Given the description of an element on the screen output the (x, y) to click on. 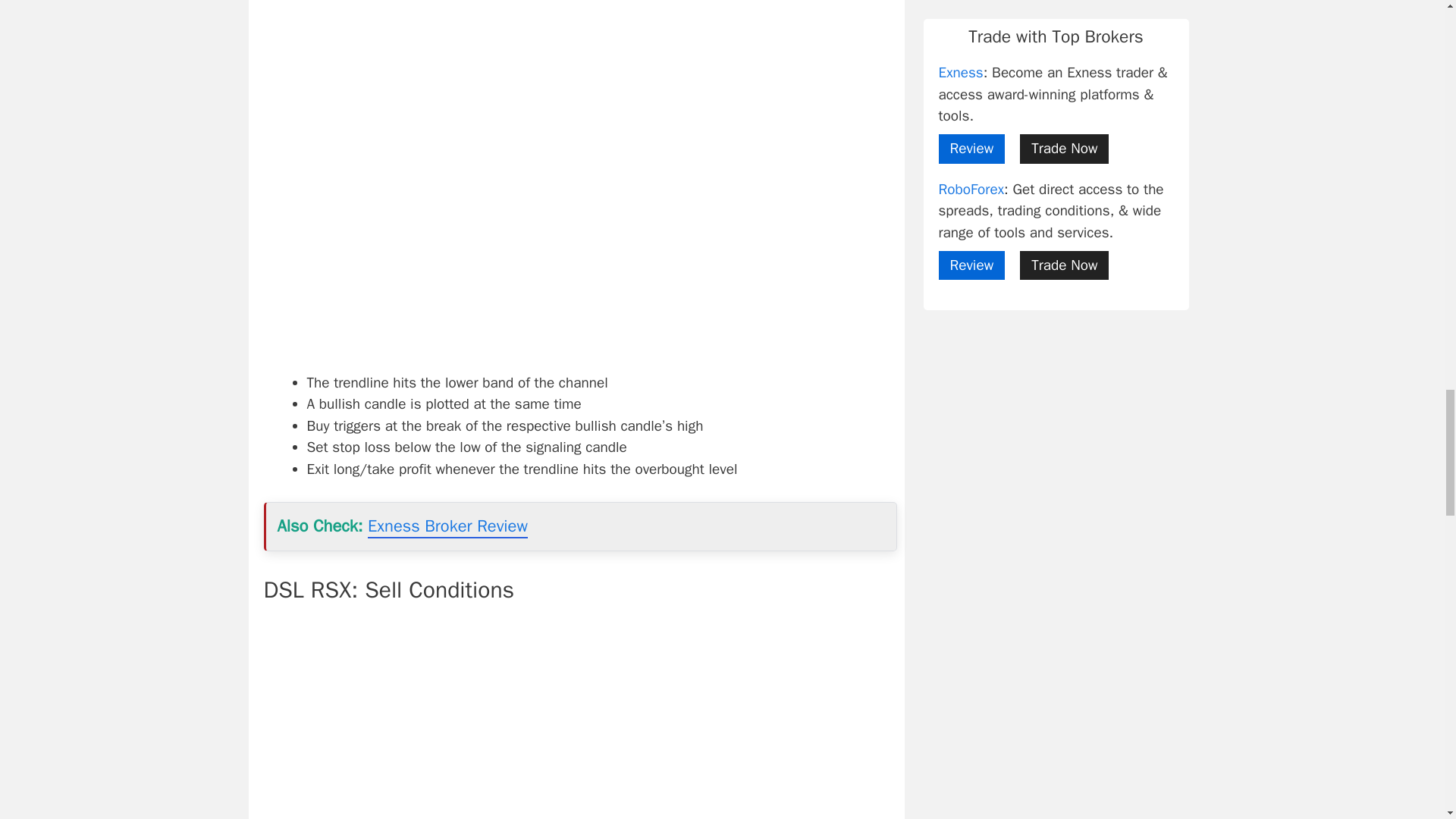
DSL RSX MT4 Indicator 4 (579, 719)
Exness Broker Review (447, 526)
